Given the description of an element on the screen output the (x, y) to click on. 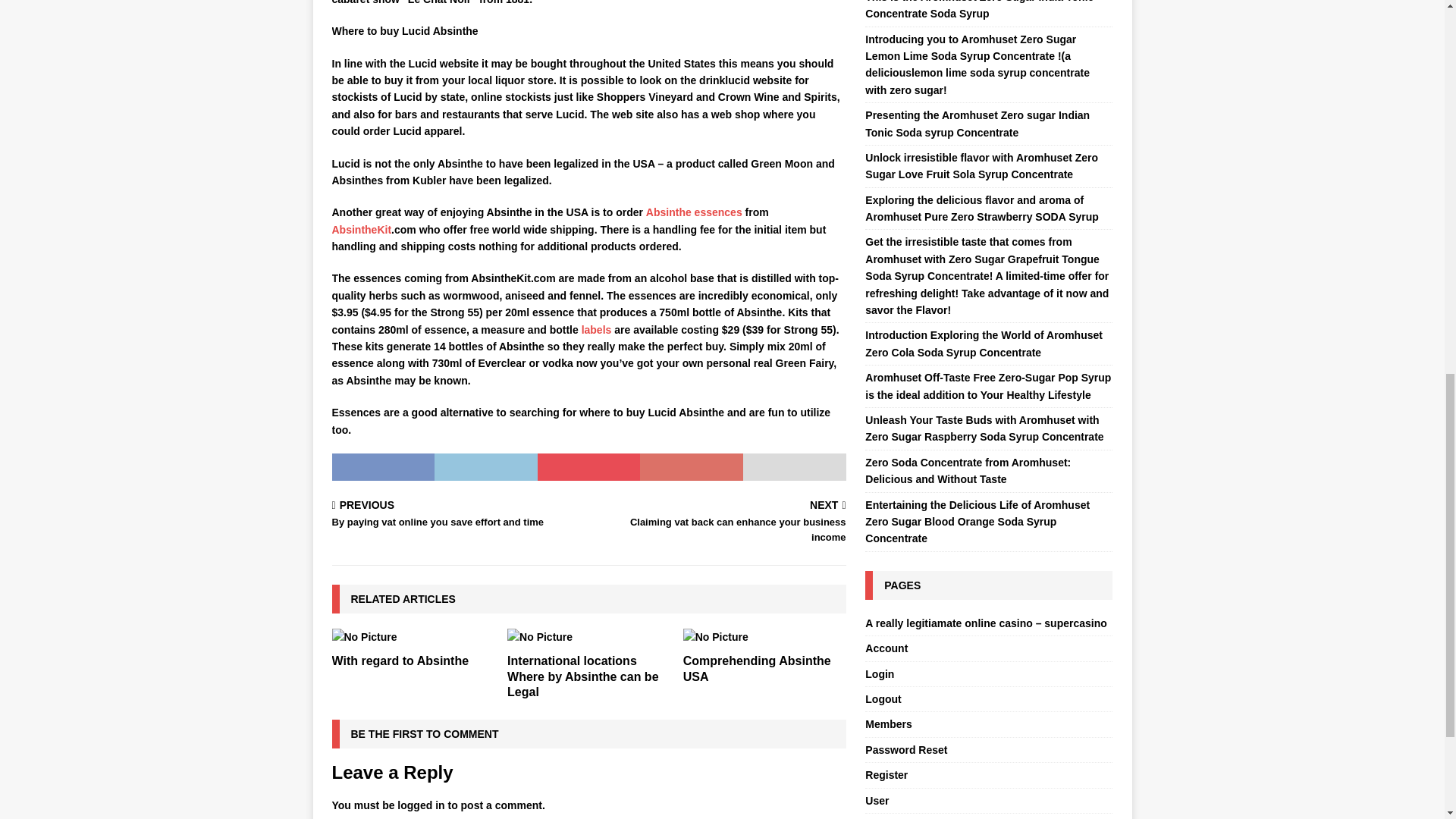
With regard to Absinthe (399, 660)
logged in (420, 805)
Absinthe essences (694, 212)
AbsintheKit (361, 229)
labels (720, 523)
International locations Where by Absinthe can be Legal (595, 329)
Comprehending Absinthe USA (582, 676)
